Given the description of an element on the screen output the (x, y) to click on. 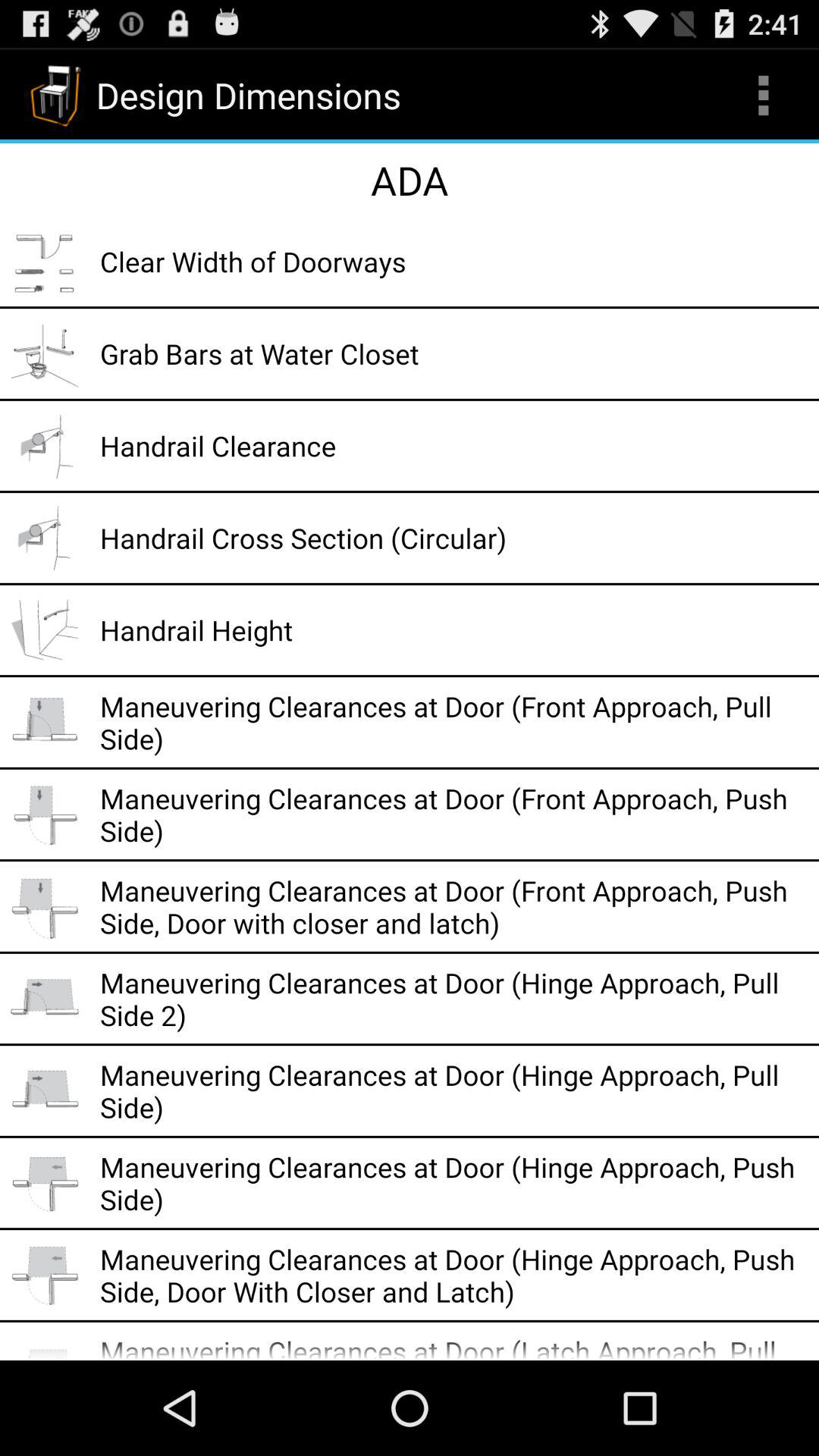
jump until clear width of (454, 261)
